Given the description of an element on the screen output the (x, y) to click on. 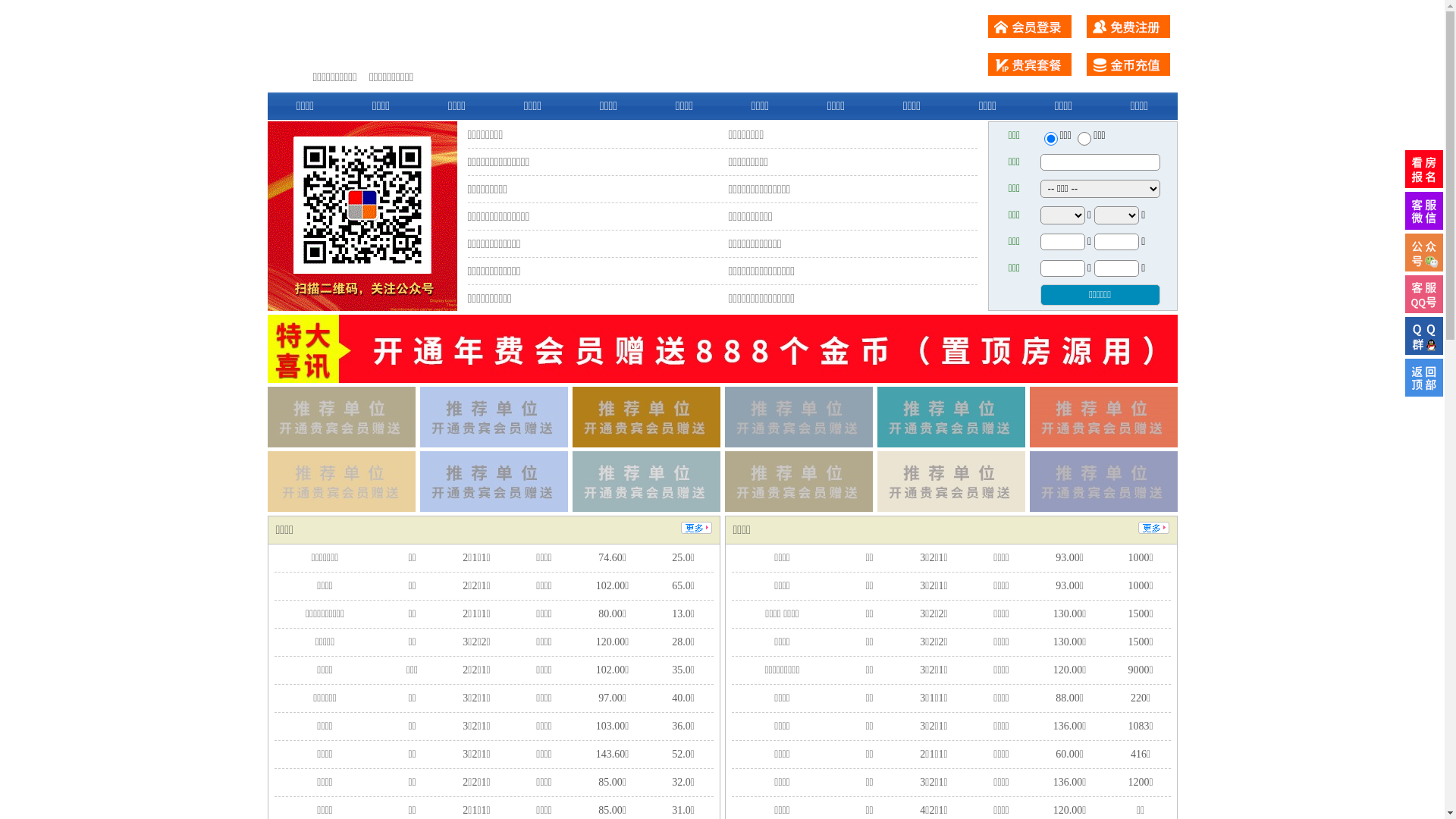
ershou Element type: text (1050, 138)
chuzu Element type: text (1084, 138)
